Given the description of an element on the screen output the (x, y) to click on. 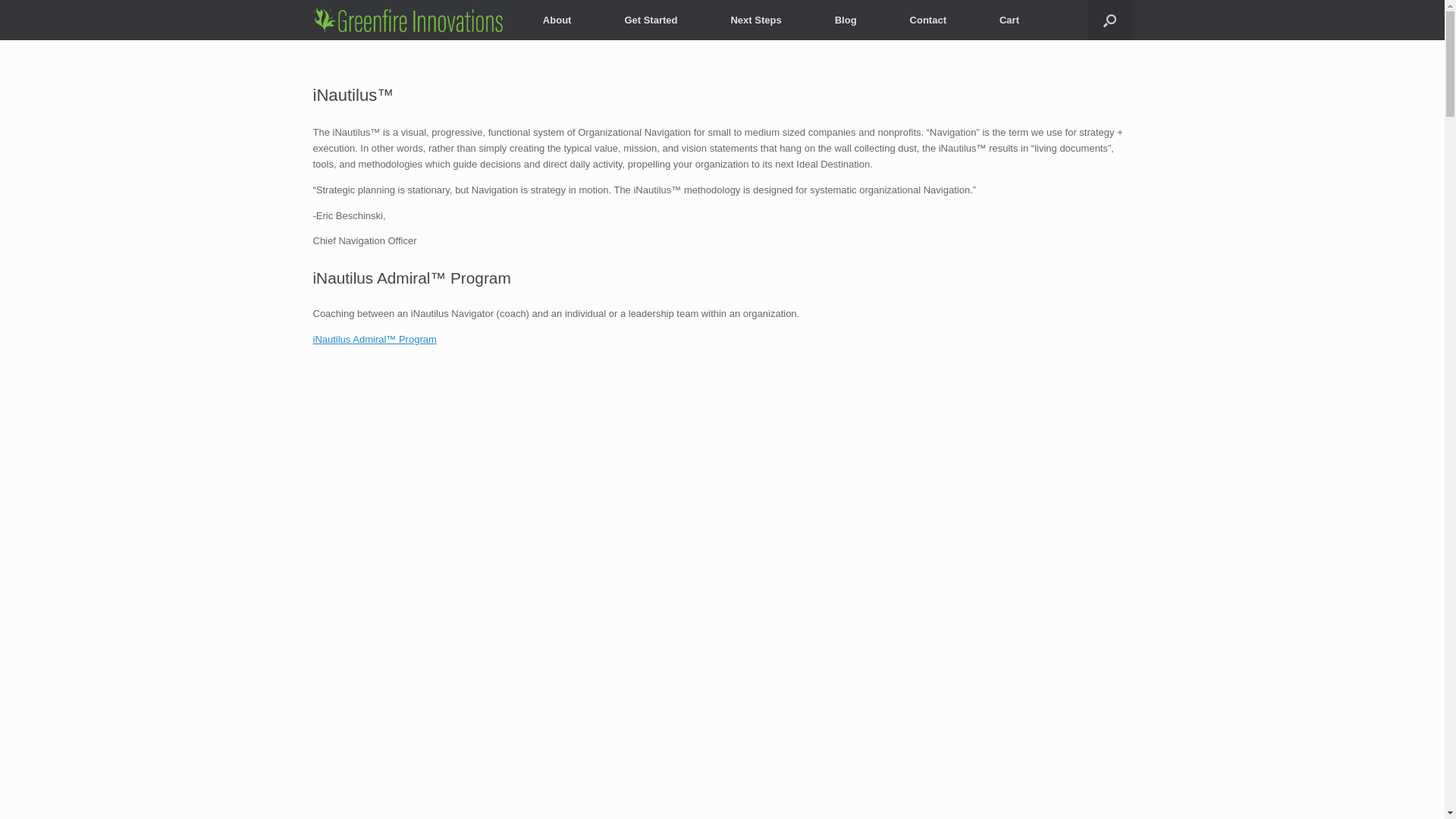
Greenfire Innovations (408, 20)
Contact (927, 20)
Cart (1008, 20)
About (557, 20)
Next Steps (755, 20)
Blog (845, 20)
Get Started (649, 20)
